Given the description of an element on the screen output the (x, y) to click on. 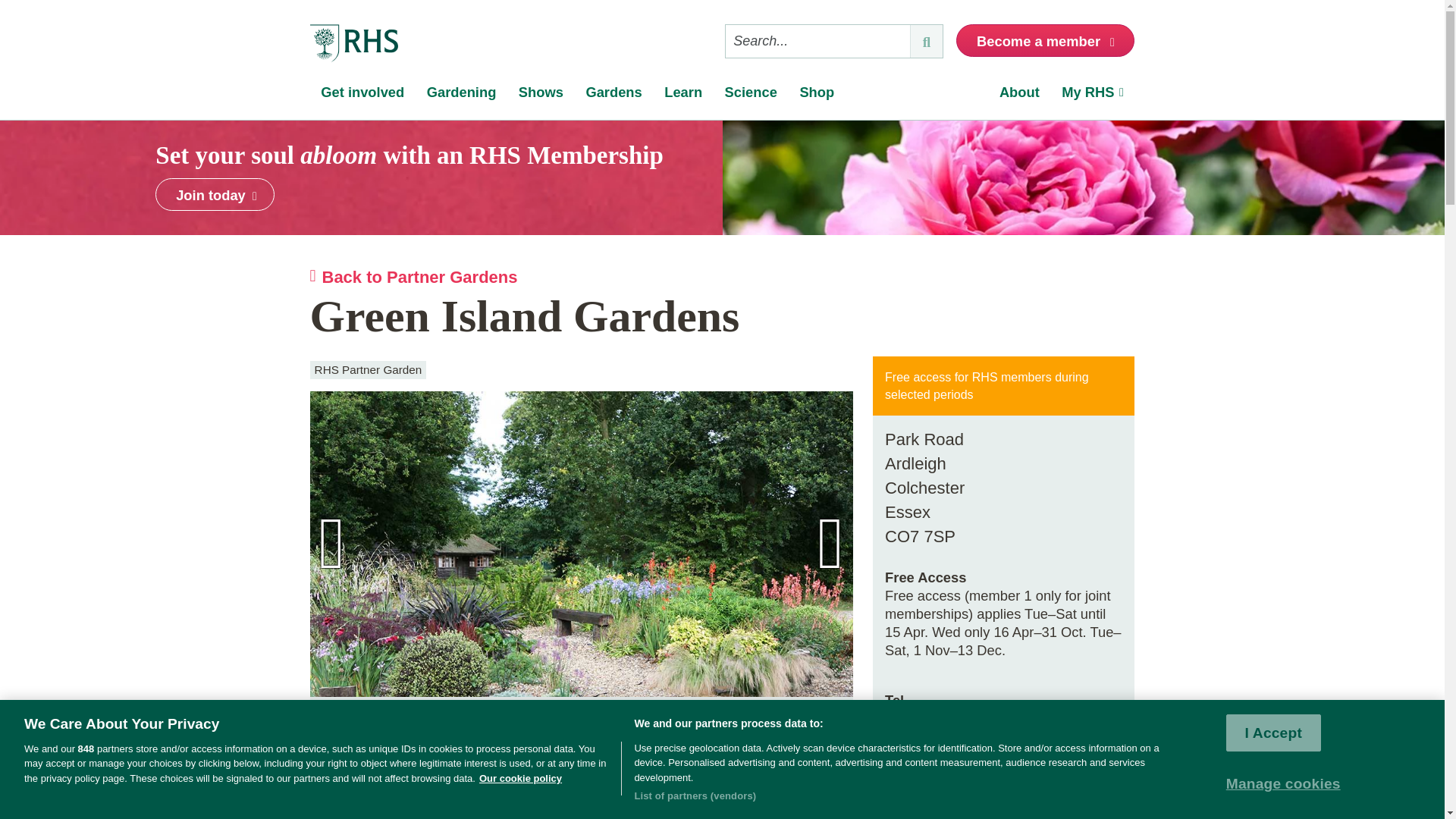
Submit (926, 41)
My RHS (1093, 96)
Get involved (361, 96)
Gardens (614, 96)
Learn (682, 96)
Shop (817, 96)
About (1018, 96)
Science (751, 96)
Become a member (1045, 40)
Home (353, 43)
Shows (540, 96)
Gardening (460, 96)
